Given the description of an element on the screen output the (x, y) to click on. 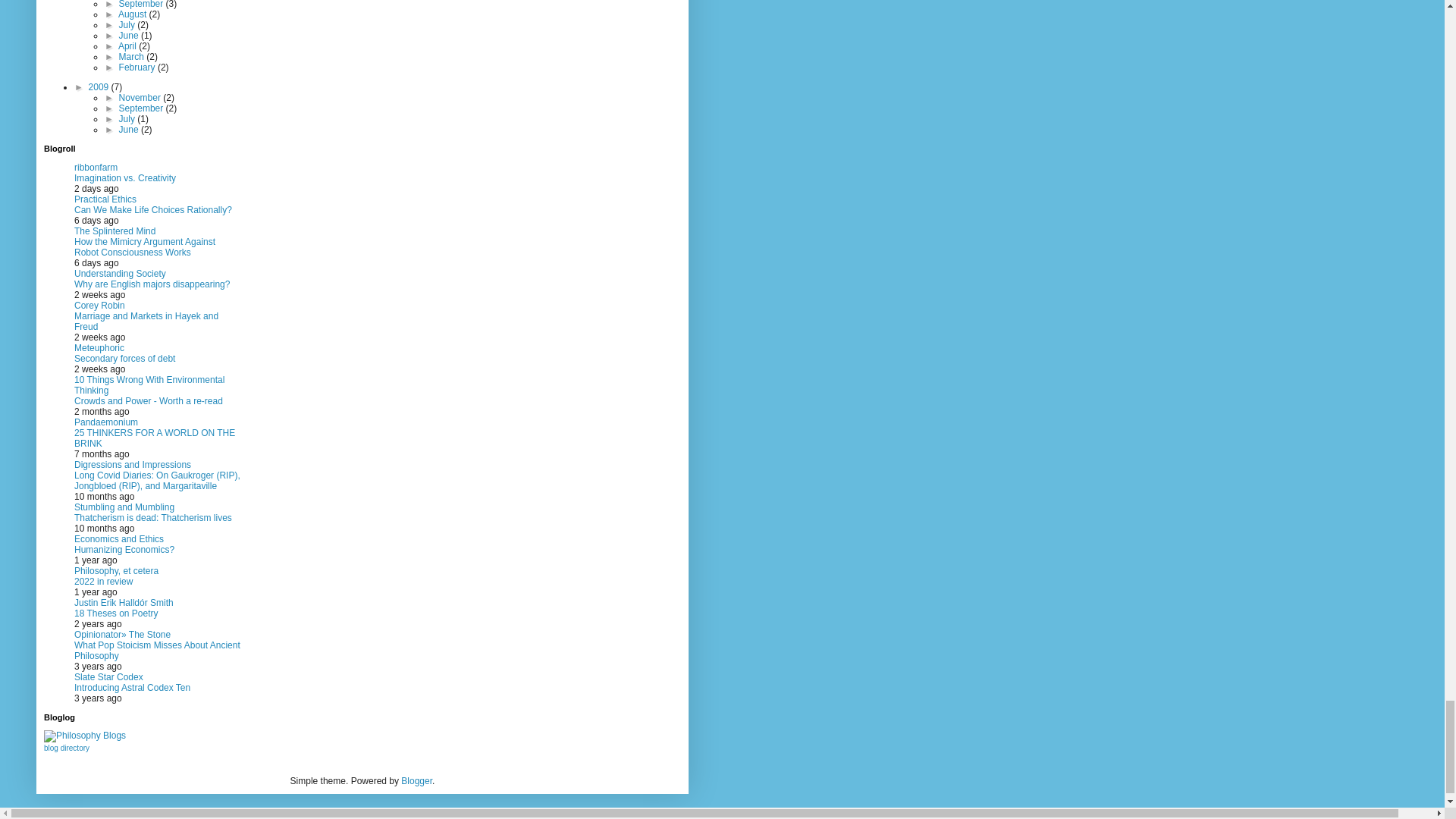
Philosophy Blogs (84, 735)
